Given the description of an element on the screen output the (x, y) to click on. 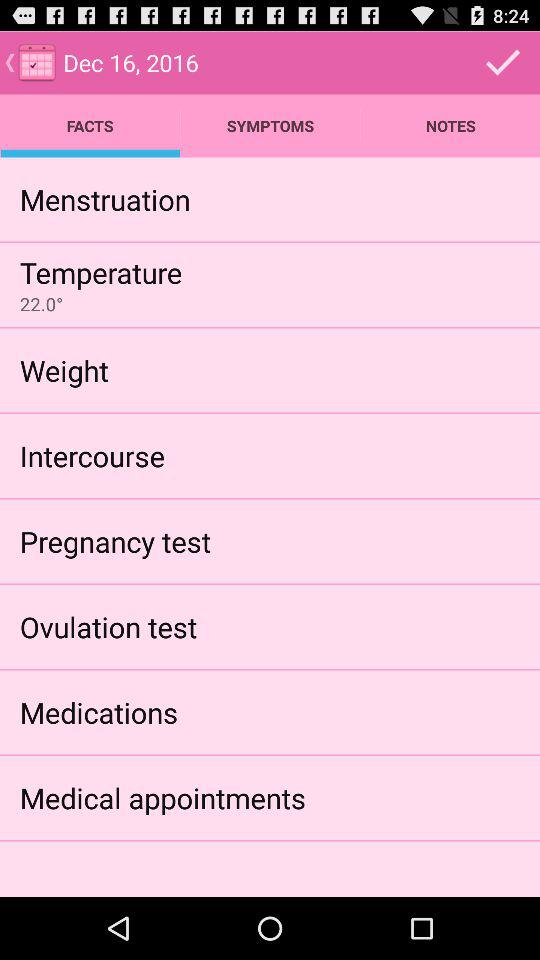
press the icon below the intercourse app (115, 540)
